Given the description of an element on the screen output the (x, y) to click on. 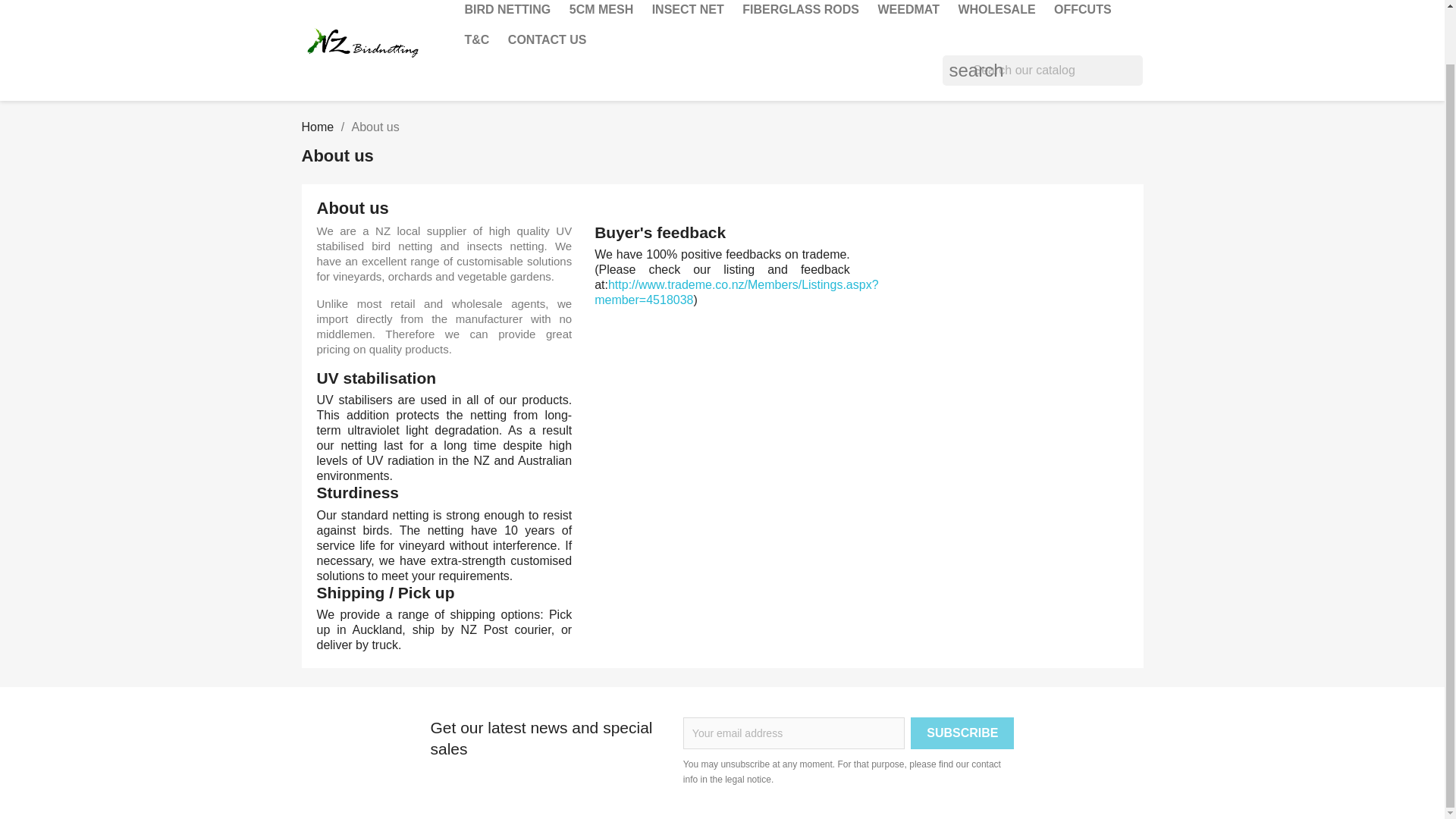
INSECT NET (688, 12)
5CM MESH (601, 12)
FIBERGLASS RODS (800, 12)
Subscribe (962, 733)
CONTACT US (547, 40)
Subscribe (962, 733)
OFFCUTS (1082, 12)
Home (317, 126)
BIRD NETTING (507, 12)
WEEDMAT (907, 12)
